Given the description of an element on the screen output the (x, y) to click on. 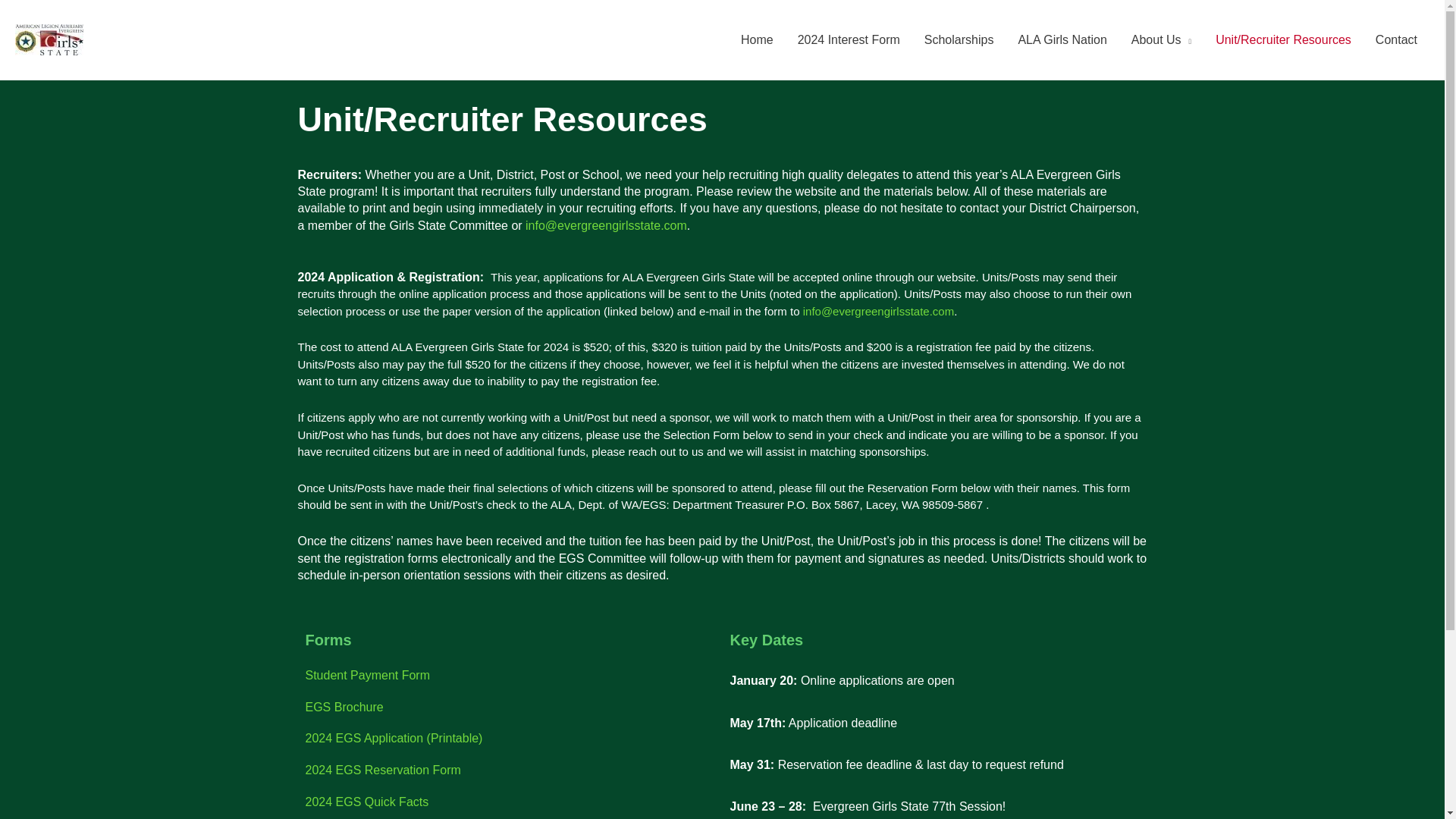
2024 EGS Quick Facts (366, 801)
Home (757, 39)
Contact (1395, 39)
EGS Brochure (343, 707)
Student Payment Form (366, 675)
About Us (1161, 39)
2024 Interest Form (849, 39)
Scholarships (959, 39)
ALA Girls Nation (1062, 39)
2024 EGS Reservation Form (382, 769)
